Given the description of an element on the screen output the (x, y) to click on. 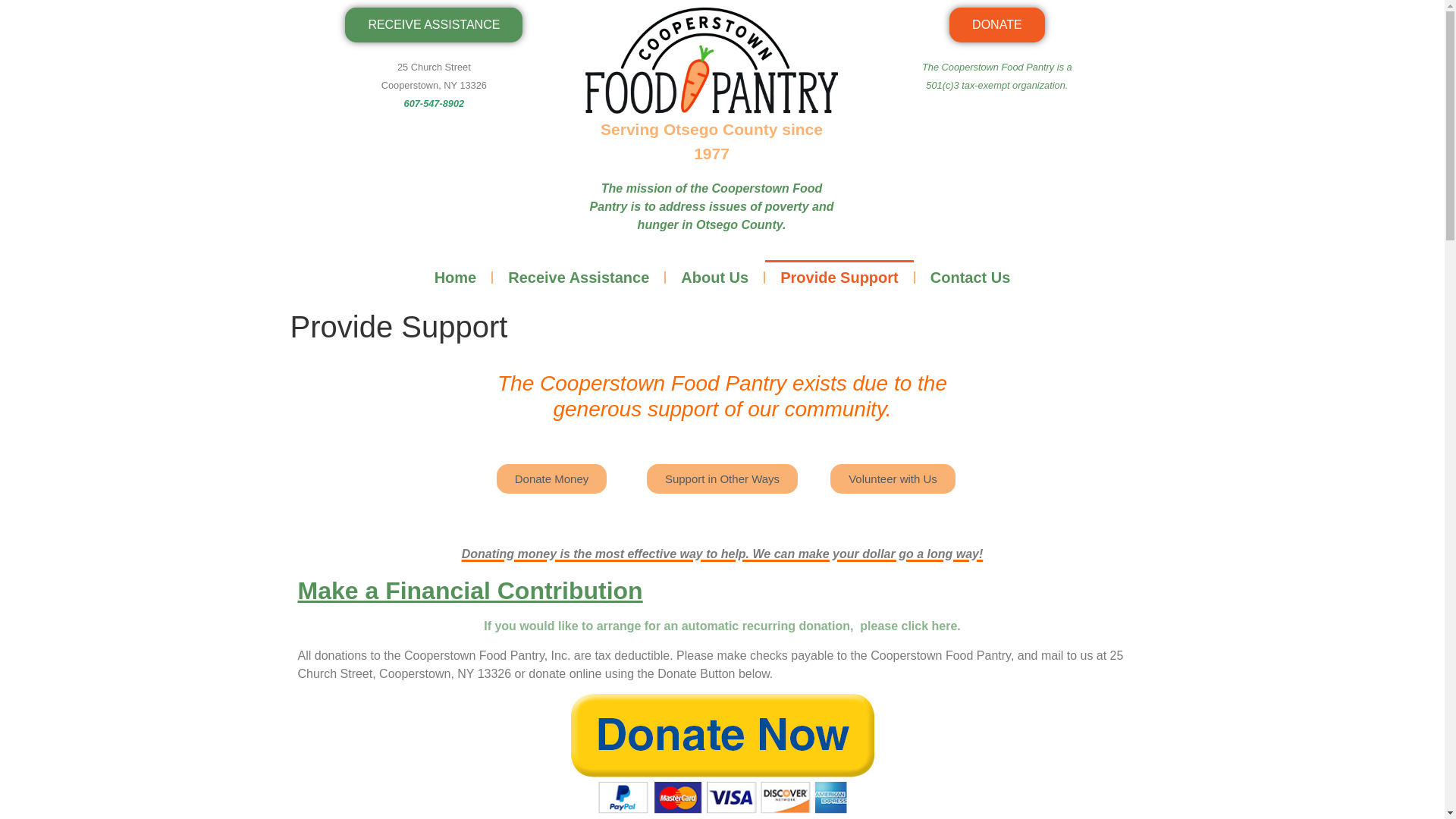
RECEIVE ASSISTANCE (433, 24)
Volunteer with Us (892, 478)
Home (455, 277)
About Us (713, 277)
DONATE (996, 24)
607-547-8902 (434, 102)
Contact Us (970, 277)
Provide Support (839, 277)
Support in Other Ways (721, 478)
